Given the description of an element on the screen output the (x, y) to click on. 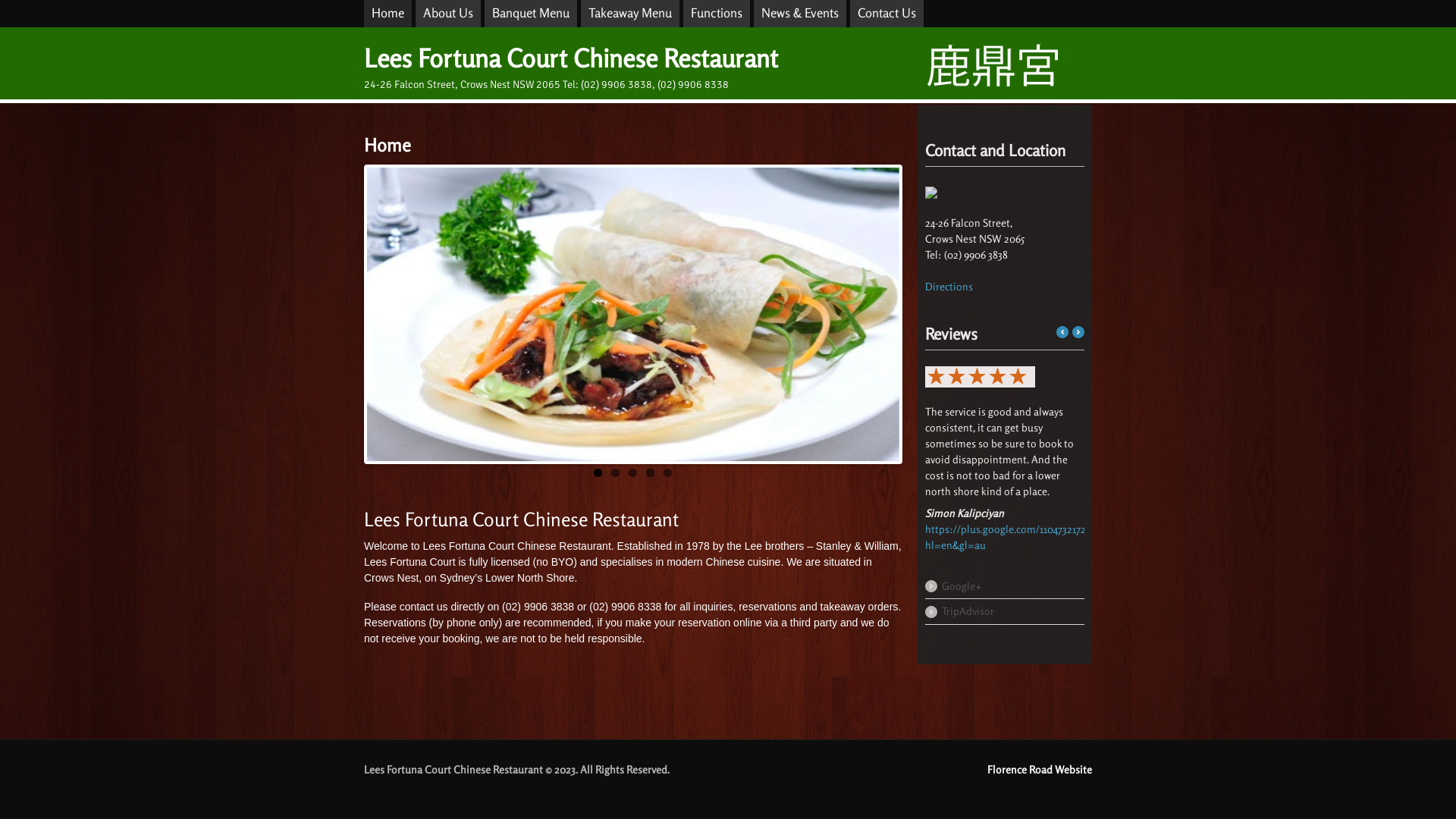
Directions Element type: text (948, 285)
4 Element type: text (650, 472)
TripAdvisor Element type: text (1004, 611)
Takeaway Menu Element type: text (629, 13)
Lees Fortuna Court Chinese Restaurant Element type: text (571, 57)
Contact Us Element type: text (886, 13)
Google+ Element type: text (1004, 586)
3 Element type: text (632, 472)
Functions Element type: text (716, 13)
Home Element type: text (387, 13)
About Us Element type: text (447, 13)
Florence Road Website Element type: text (1039, 768)
News & Events Element type: text (799, 13)
5 Element type: text (667, 472)
1 Element type: text (597, 472)
2 Element type: text (615, 472)
Banquet Menu Element type: text (530, 13)
